Given the description of an element on the screen output the (x, y) to click on. 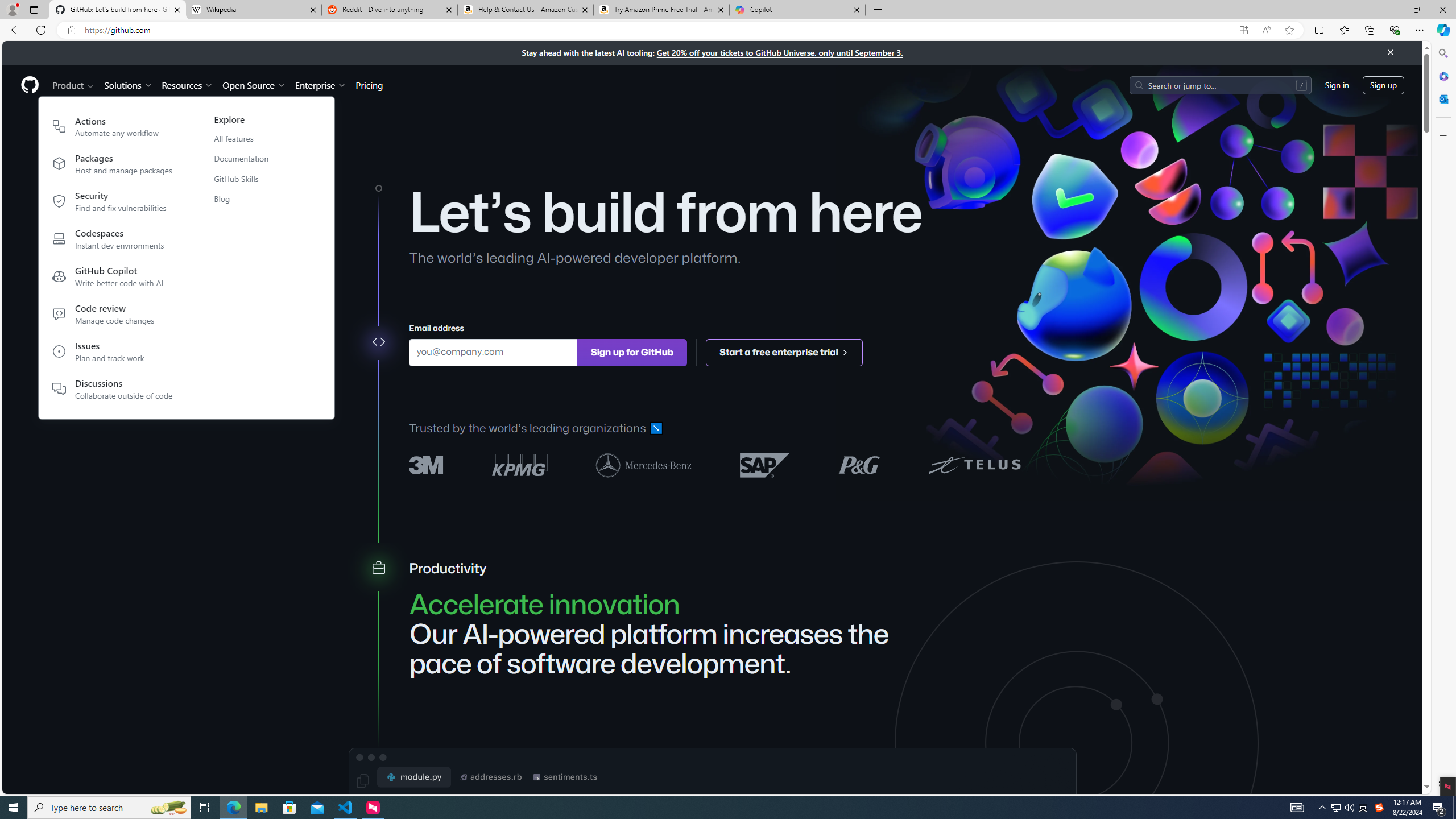
Class: octicon arrow-symbol-mktg (845, 352)
Code review Manage code changes (112, 316)
Actions Automate any workflow (112, 128)
GitHub Skills (248, 178)
